Given the description of an element on the screen output the (x, y) to click on. 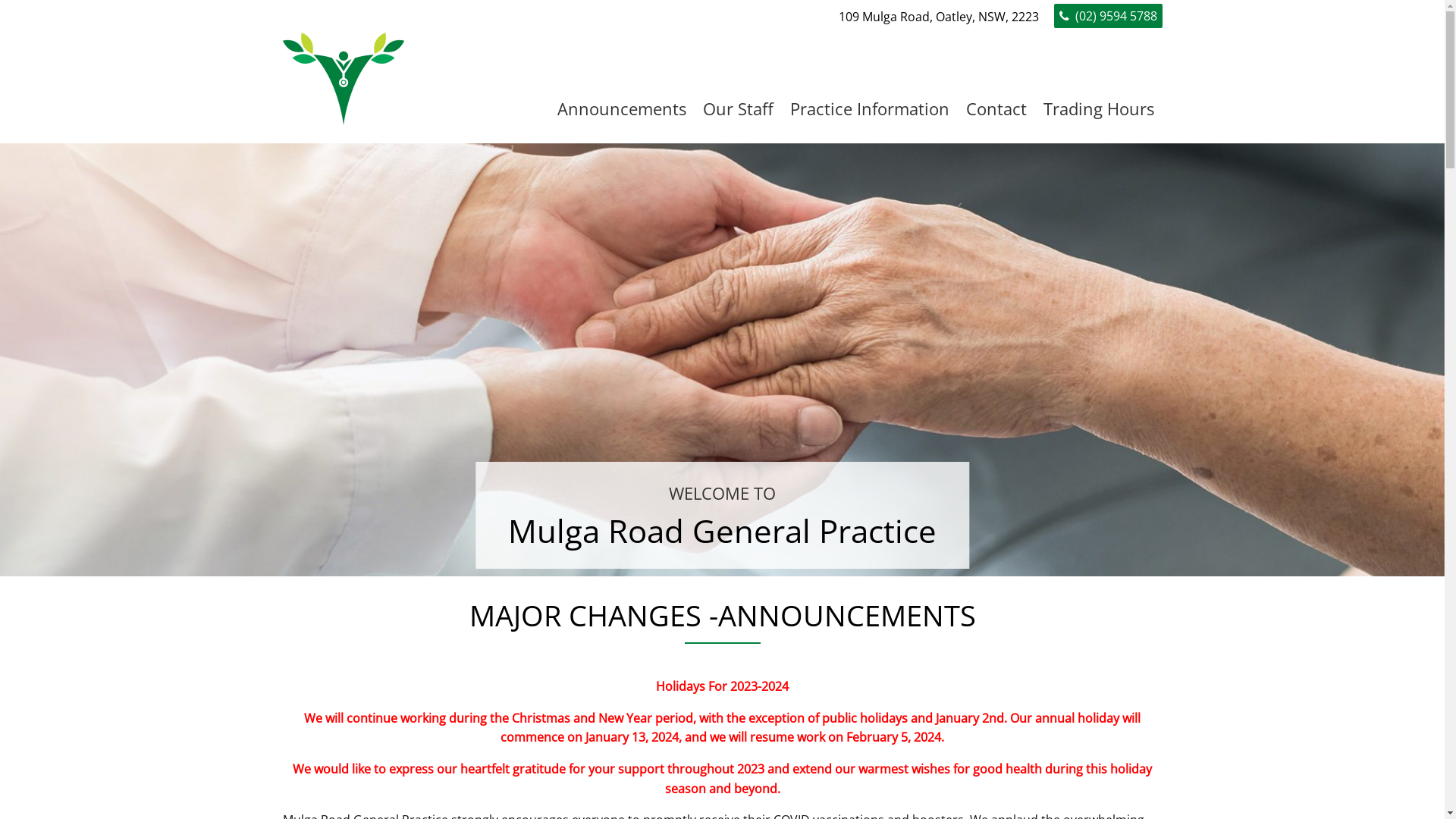
Announcements Element type: text (621, 108)
Contact Element type: text (995, 108)
Trading Hours Element type: text (1097, 108)
(02) 9594 5788 Element type: text (1108, 15)
Our Staff Element type: text (737, 108)
Practice Information Element type: text (869, 108)
